Given the description of an element on the screen output the (x, y) to click on. 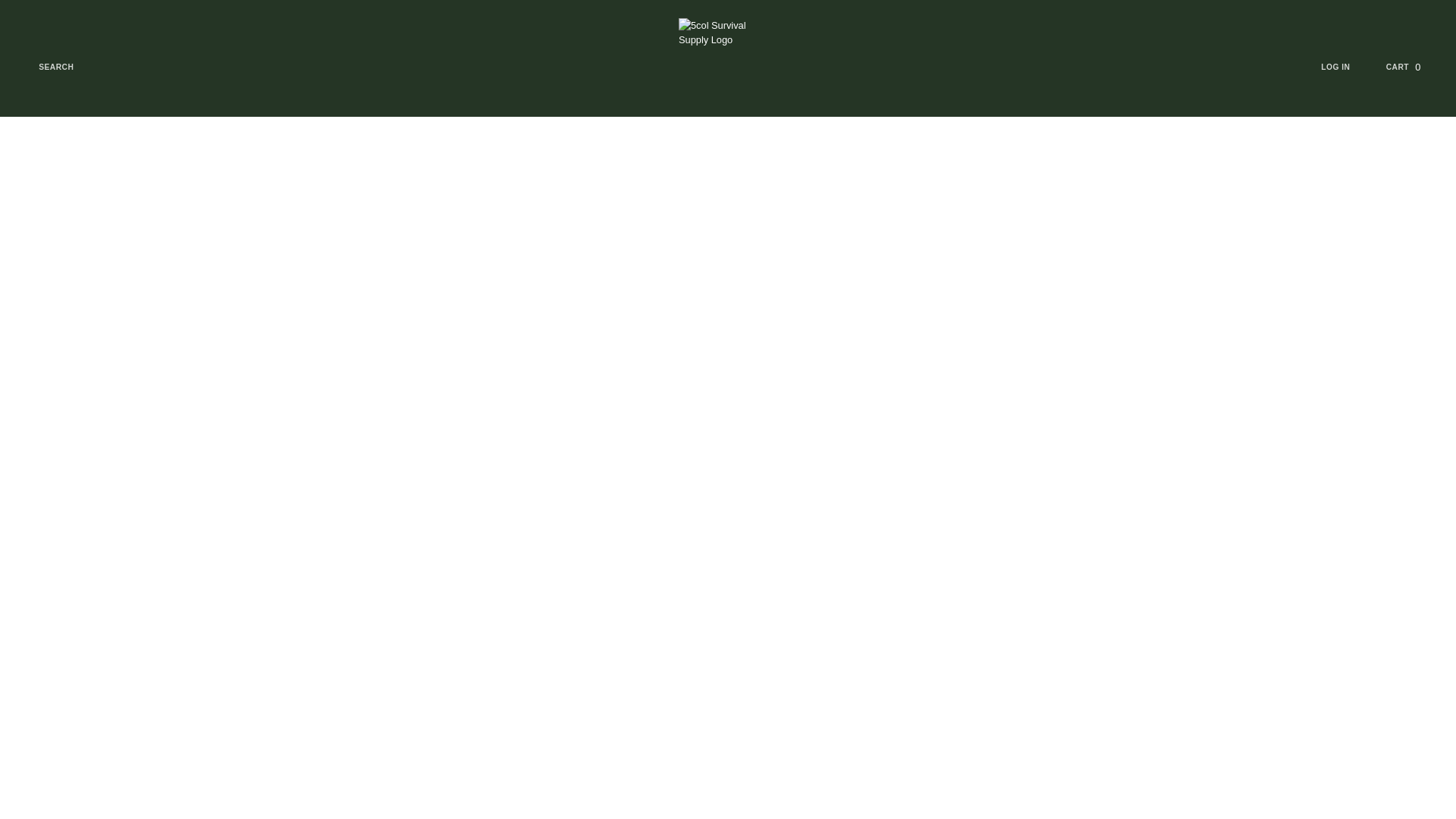
SEARCH (1412, 66)
LOG IN (45, 66)
